Given the description of an element on the screen output the (x, y) to click on. 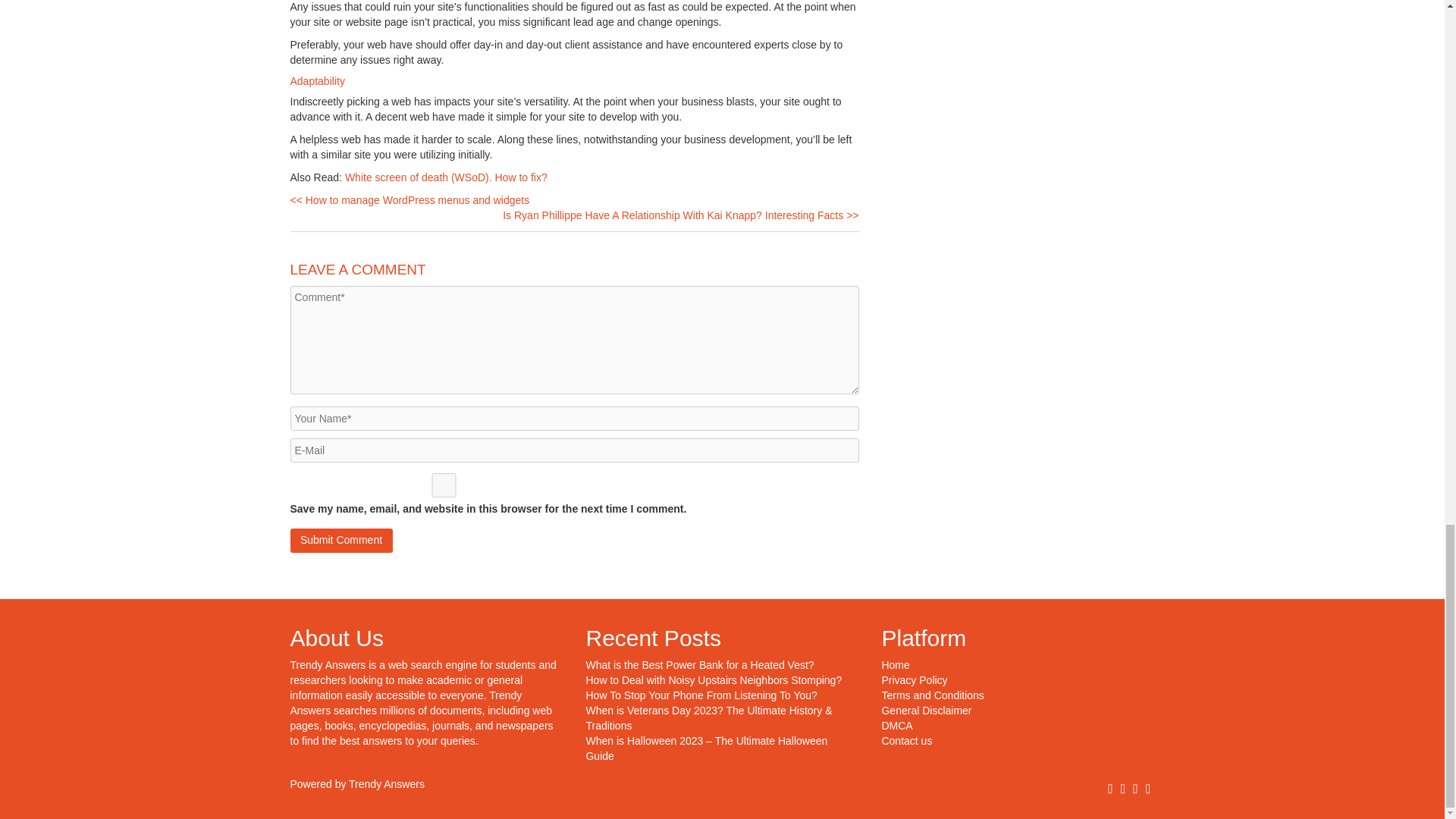
How To Stop Your Phone From Listening To You? (700, 695)
Submit Comment (340, 540)
Submit Comment (340, 540)
What is the Best Power Bank for a Heated Vest? (699, 664)
yes (442, 485)
Trendy Answers (327, 664)
How to Deal with Noisy Upstairs Neighbors Stomping? (713, 680)
